Given the description of an element on the screen output the (x, y) to click on. 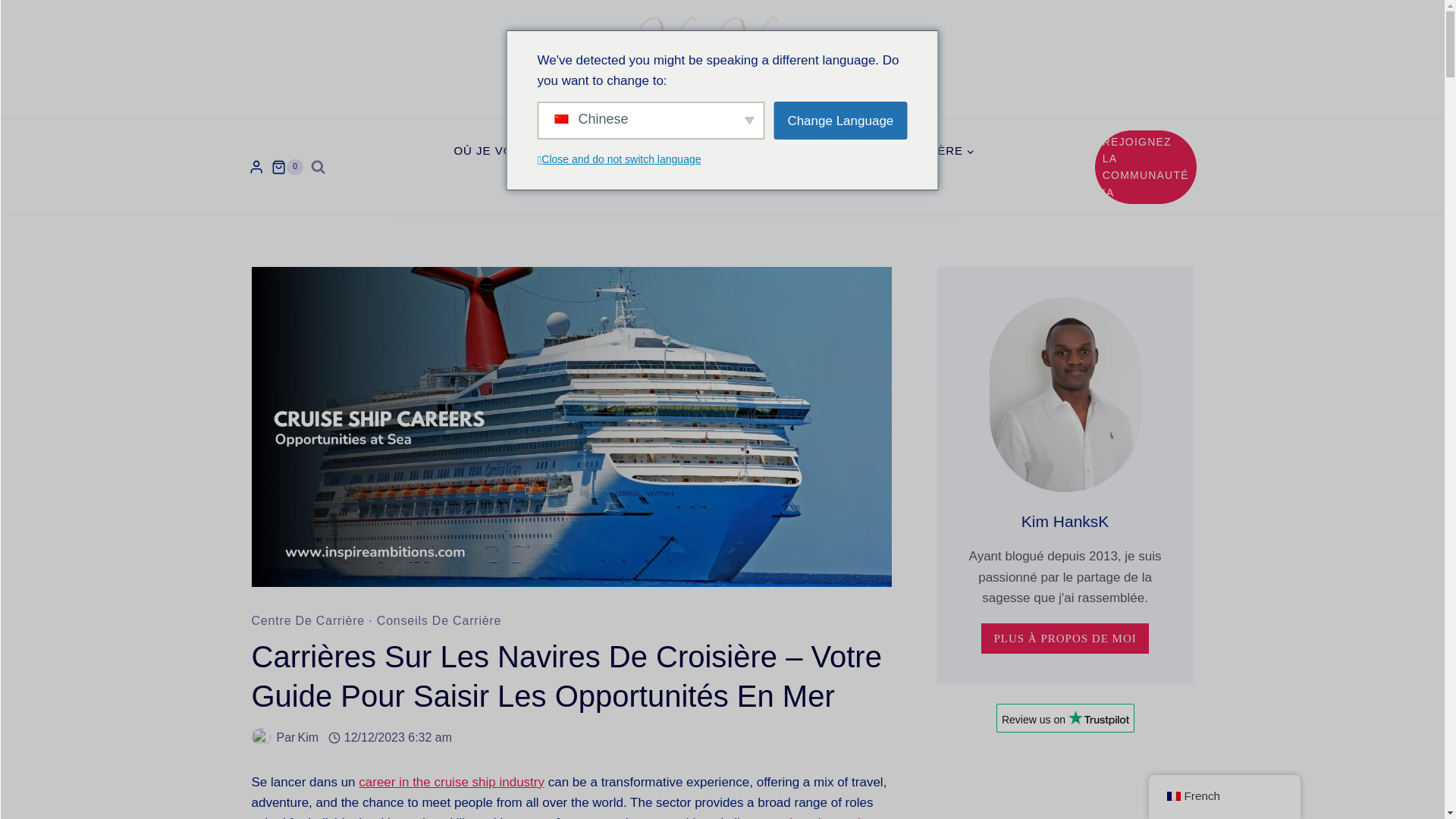
French (1172, 795)
Customer reviews powered by Trustpilot (1065, 722)
0 (286, 167)
